Given the description of an element on the screen output the (x, y) to click on. 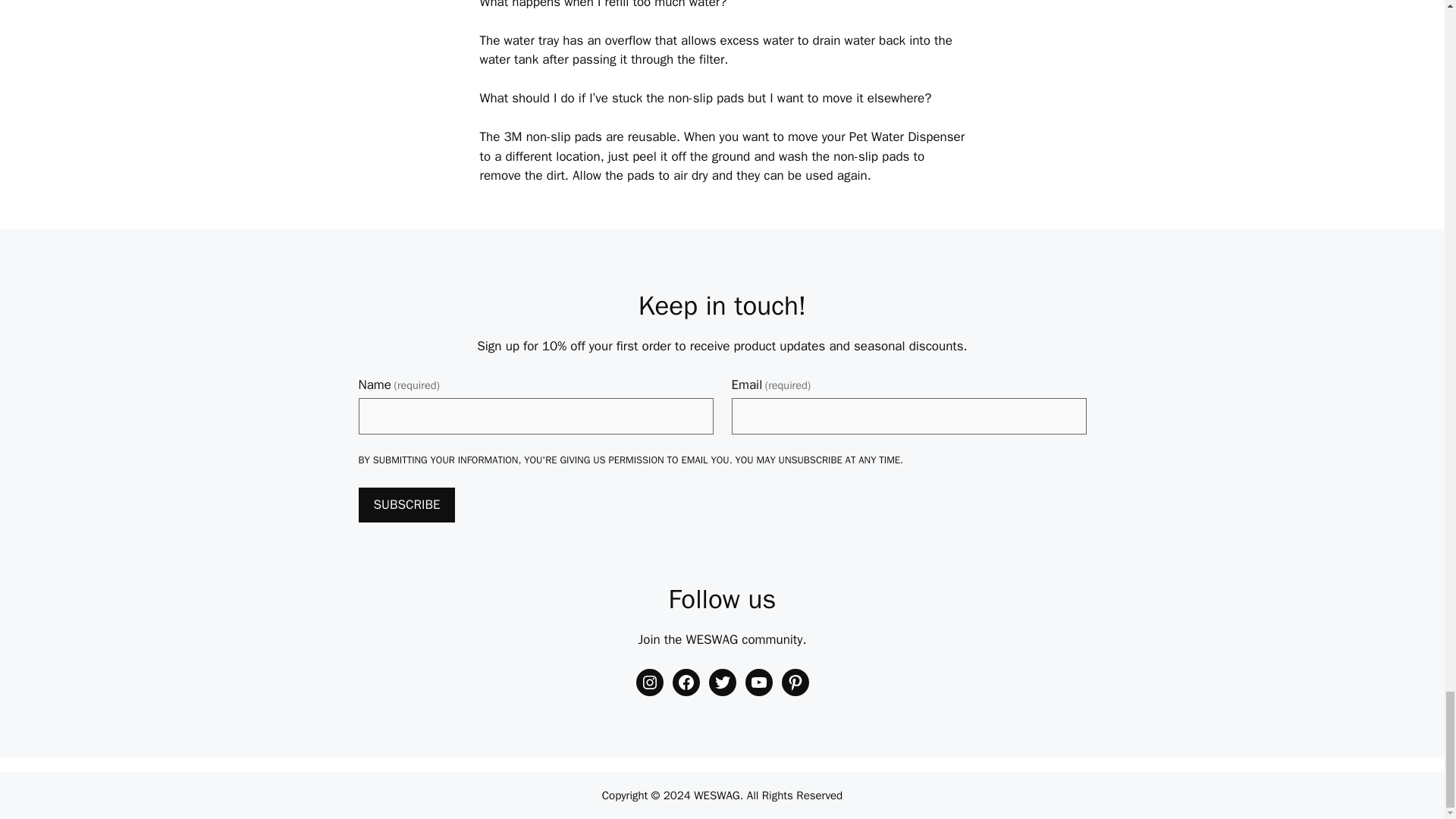
Twitter (721, 682)
SUBSCRIBE (406, 504)
Instagram (648, 682)
Pinterest (794, 682)
YouTube (757, 682)
Facebook (684, 682)
